Given the description of an element on the screen output the (x, y) to click on. 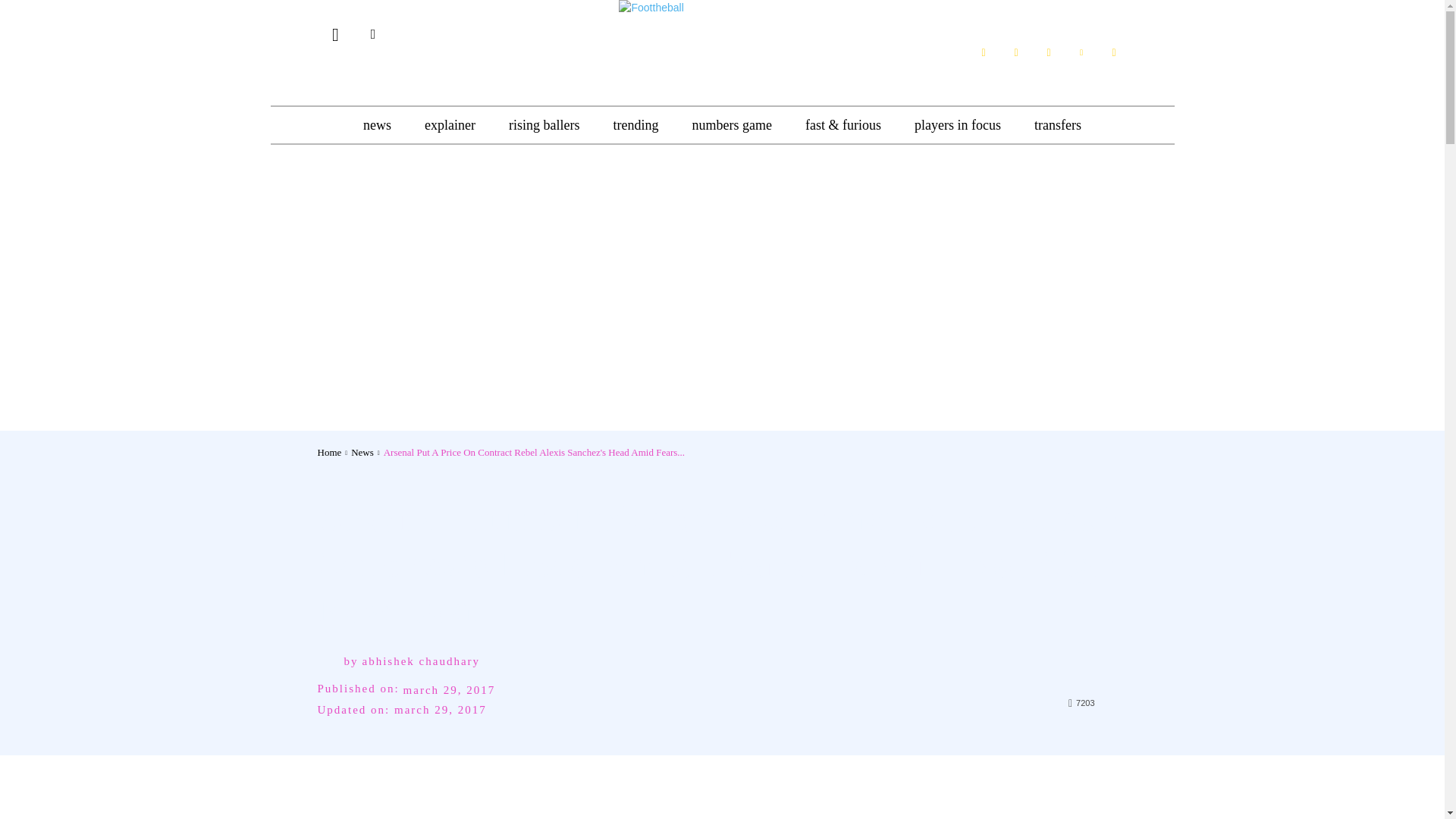
Facebook (982, 52)
Twitter (1080, 52)
Foottheball (721, 34)
Instagram (1048, 52)
View all posts in News (362, 451)
Flipboard (1016, 52)
Youtube (1113, 52)
Abhishek Chaudhary (330, 660)
